Given the description of an element on the screen output the (x, y) to click on. 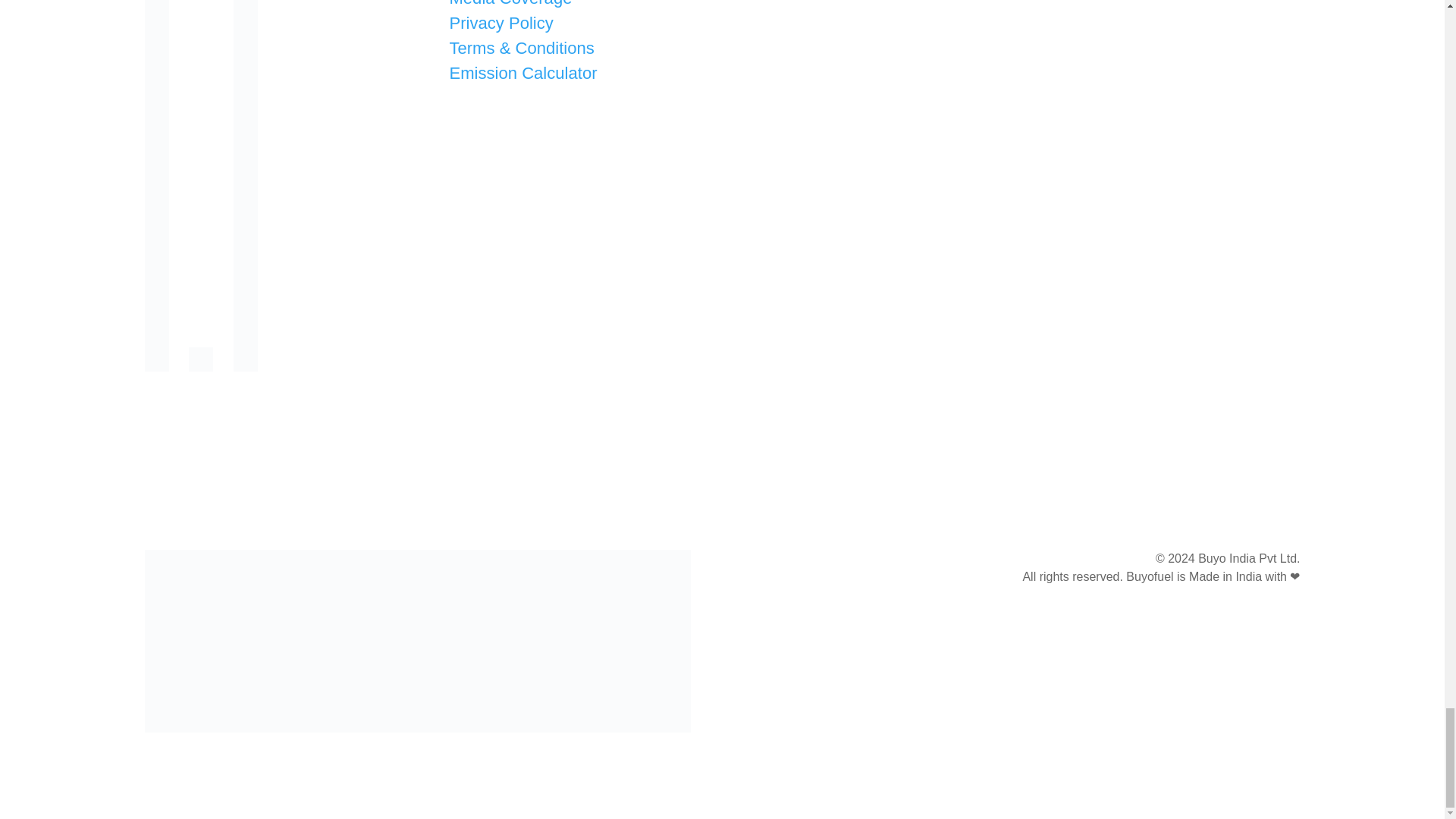
buyofuel-new-logo (417, 640)
